Given the description of an element on the screen output the (x, y) to click on. 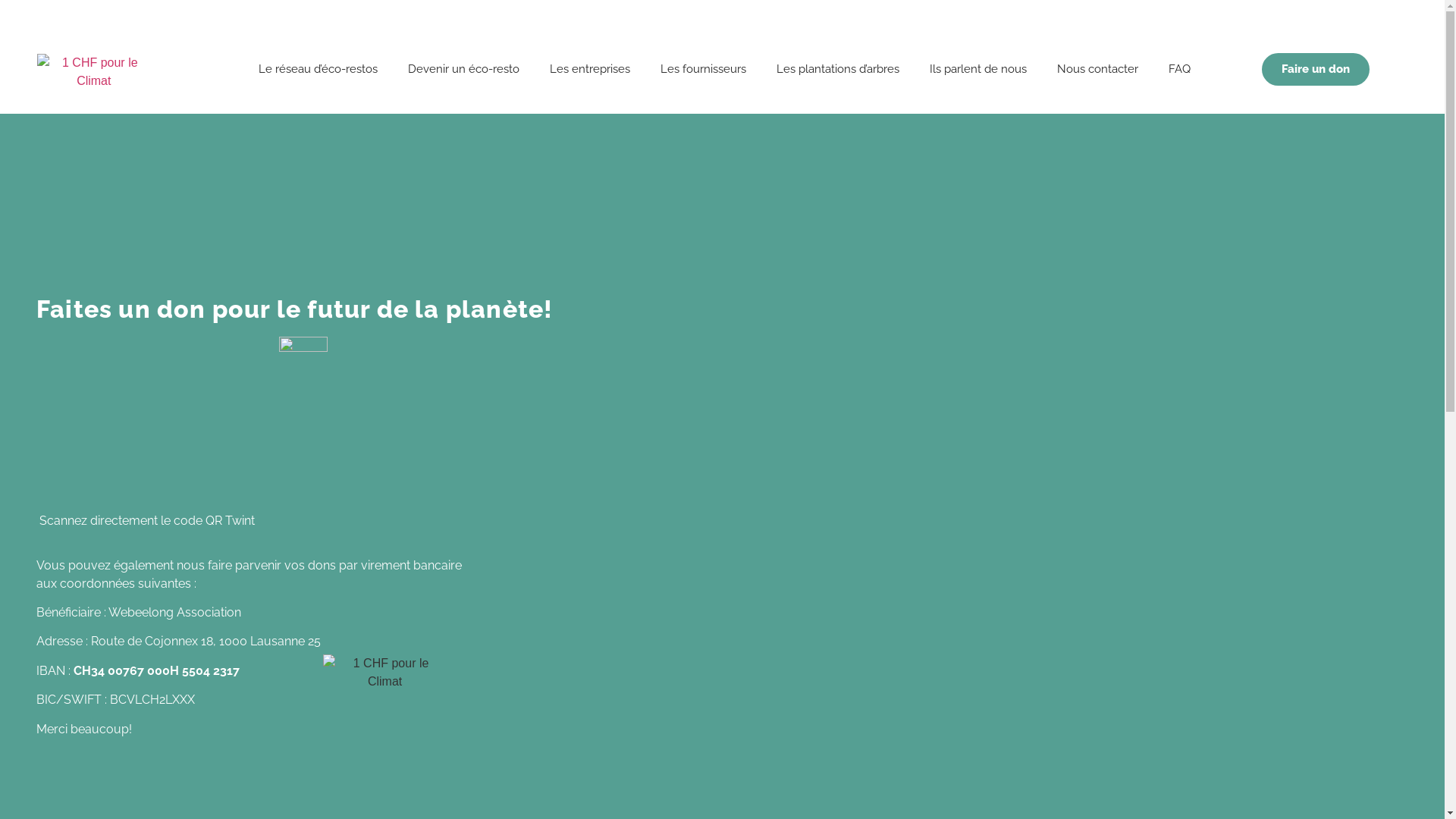
Les fournisseurs Element type: text (703, 68)
Nous contacter Element type: text (1097, 68)
Ils parlent de nous Element type: text (977, 68)
Faire un don Element type: text (1315, 69)
Les entreprises Element type: text (589, 68)
FAQ Element type: text (1179, 68)
